Given the description of an element on the screen output the (x, y) to click on. 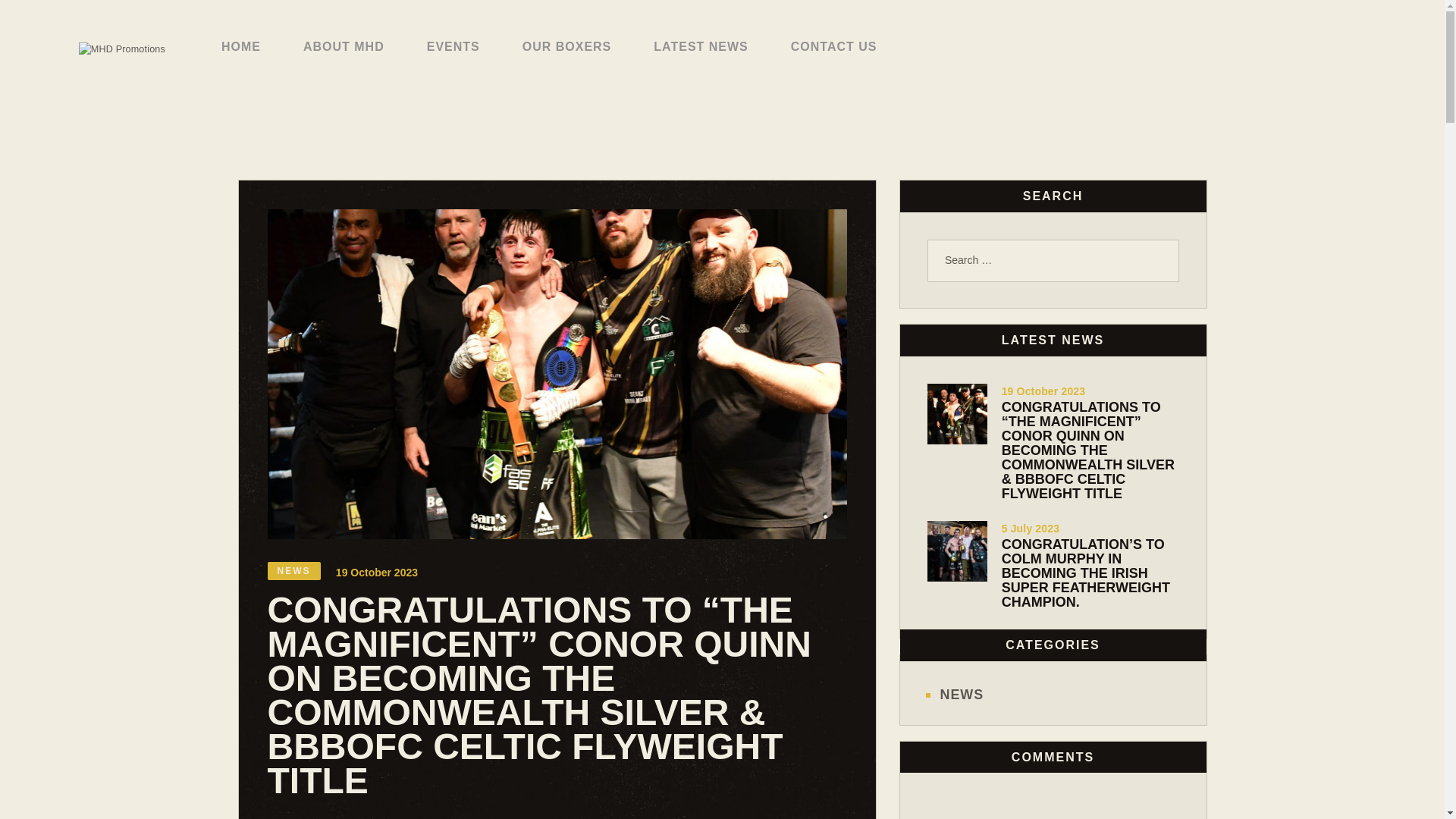
ABOUT MHD (344, 47)
OUR BOXERS (566, 47)
Search (1159, 260)
EVENTS (453, 47)
19 October 2023 (376, 577)
Search (1159, 260)
LATEST NEWS (699, 47)
HOME (241, 47)
NEWS (293, 574)
CONTACT US (834, 47)
